Given the description of an element on the screen output the (x, y) to click on. 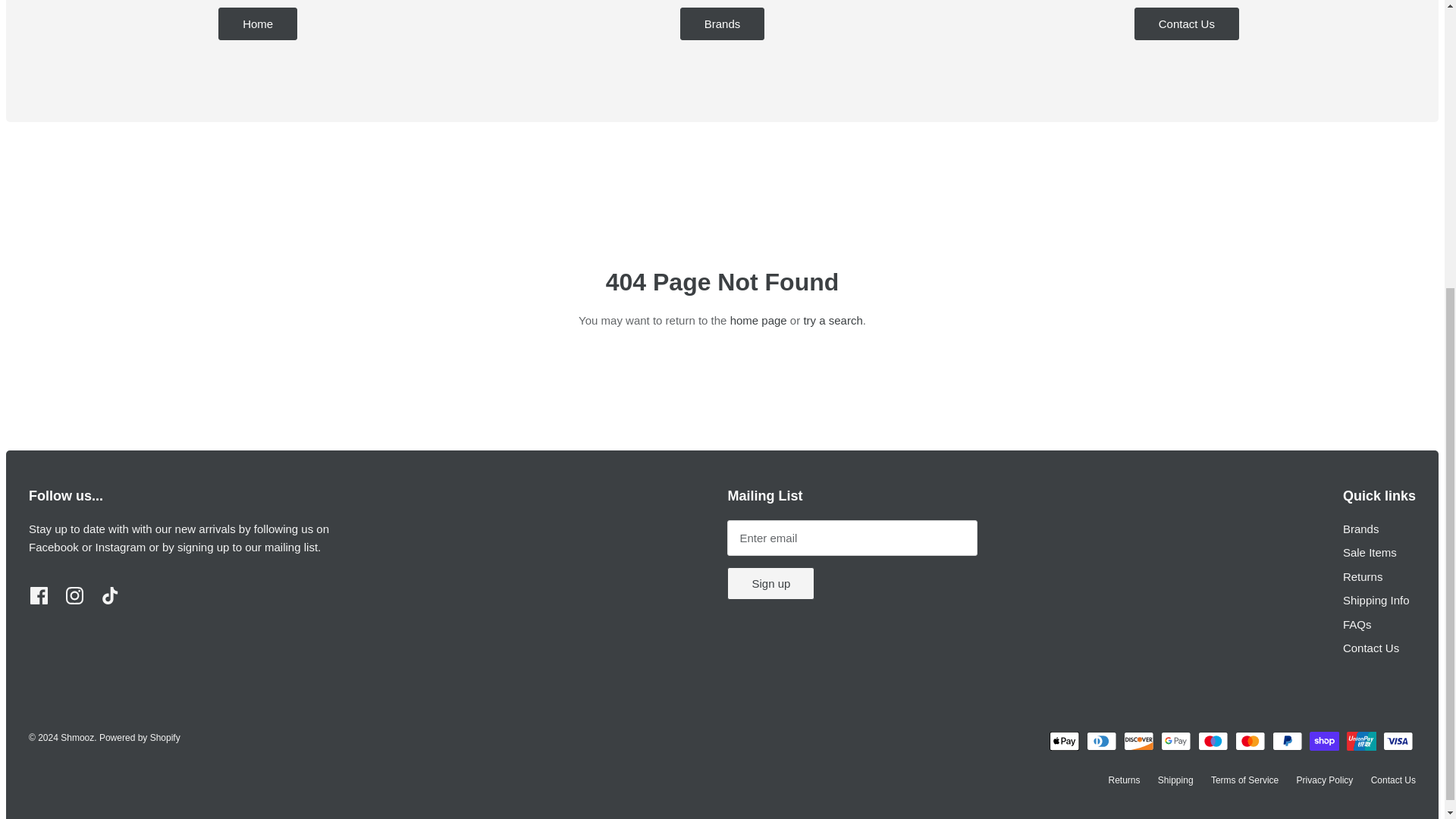
Shmooz Facebook (53, 546)
Google Pay (1175, 741)
Instagram (73, 595)
Mastercard (1249, 741)
PayPal (1287, 741)
Visa (1398, 741)
Facebook (39, 595)
Apple Pay (1063, 741)
Shmooz Instagram (121, 546)
Diners Club (1101, 741)
